Given the description of an element on the screen output the (x, y) to click on. 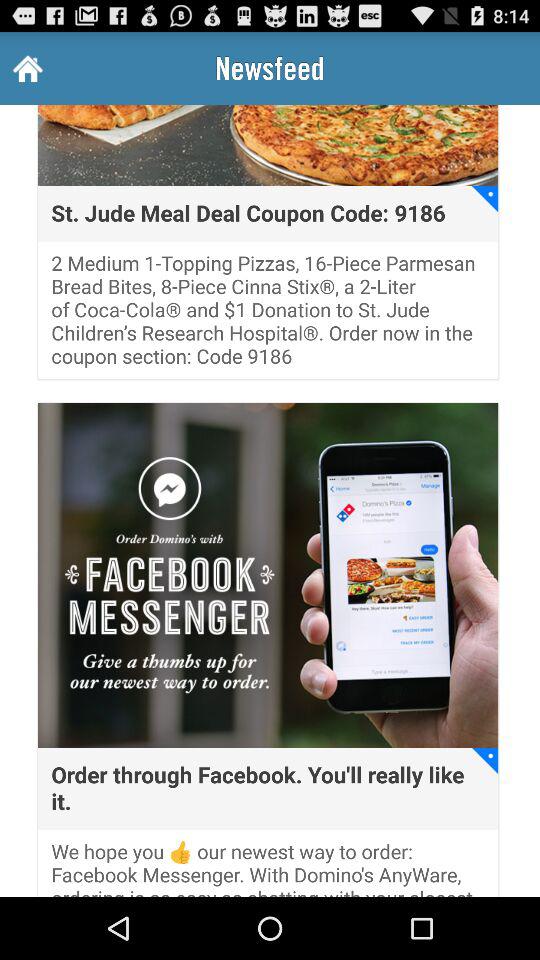
jump until the we hope you app (268, 868)
